Given the description of an element on the screen output the (x, y) to click on. 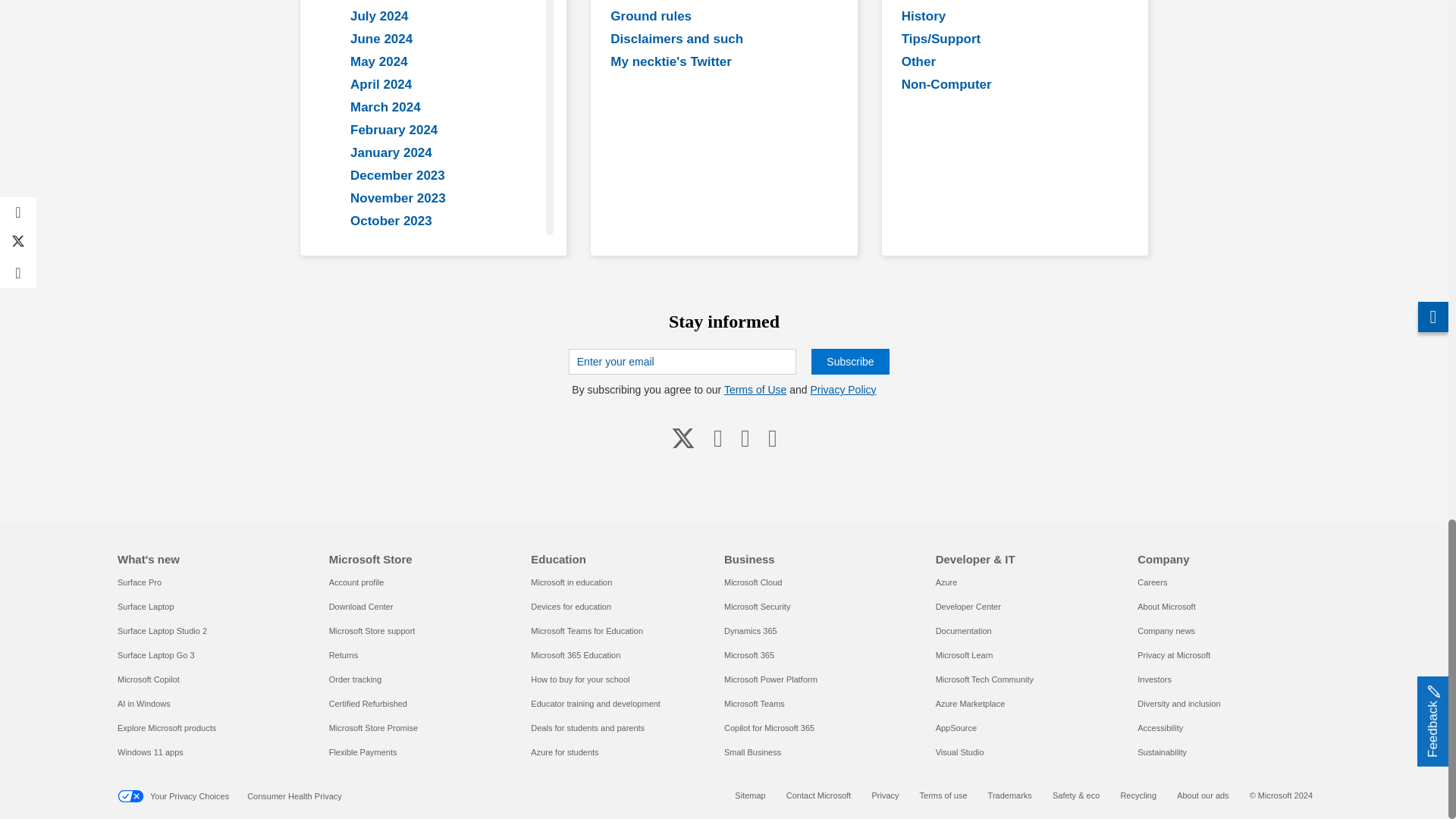
GitHub (745, 436)
youtube (718, 436)
twitter (683, 436)
Subscribe (849, 361)
RSS Feed (772, 436)
